Given the description of an element on the screen output the (x, y) to click on. 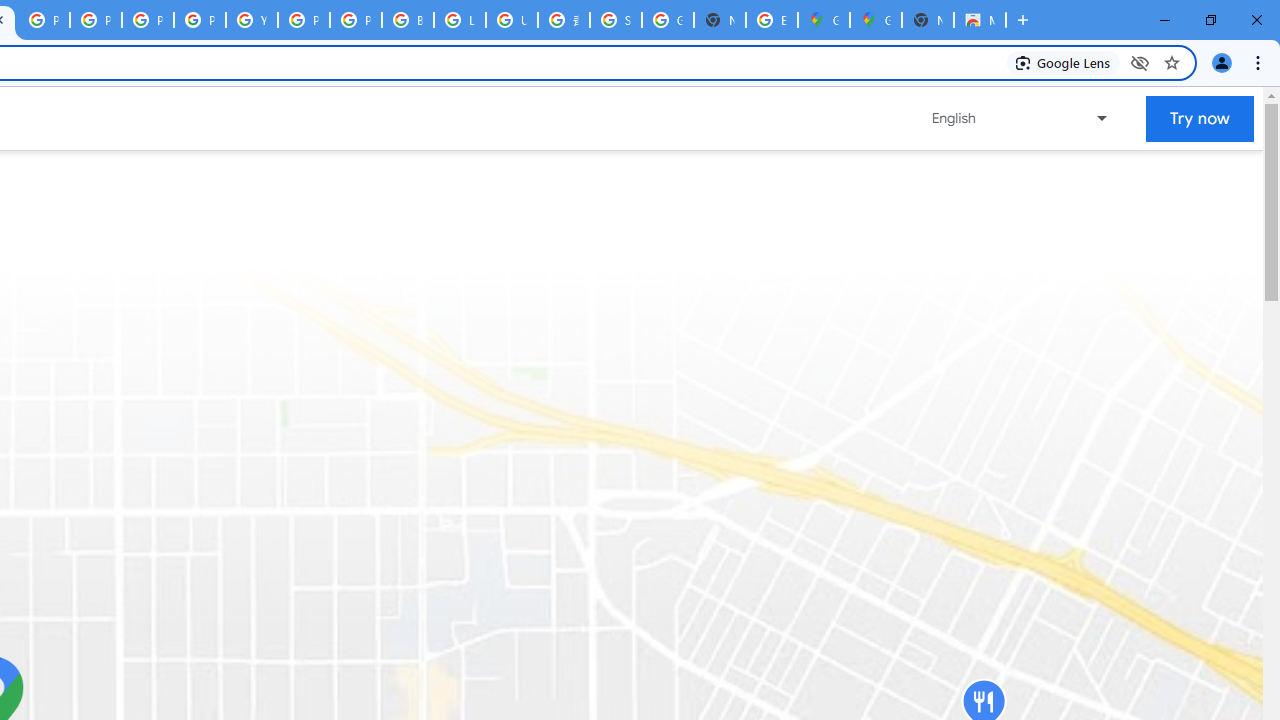
Privacy Help Center - Policies Help (95, 20)
Try now (1199, 118)
Google Maps (875, 20)
Sign in - Google Accounts (616, 20)
Policy Accountability and Transparency - Transparency Center (43, 20)
